Given the description of an element on the screen output the (x, y) to click on. 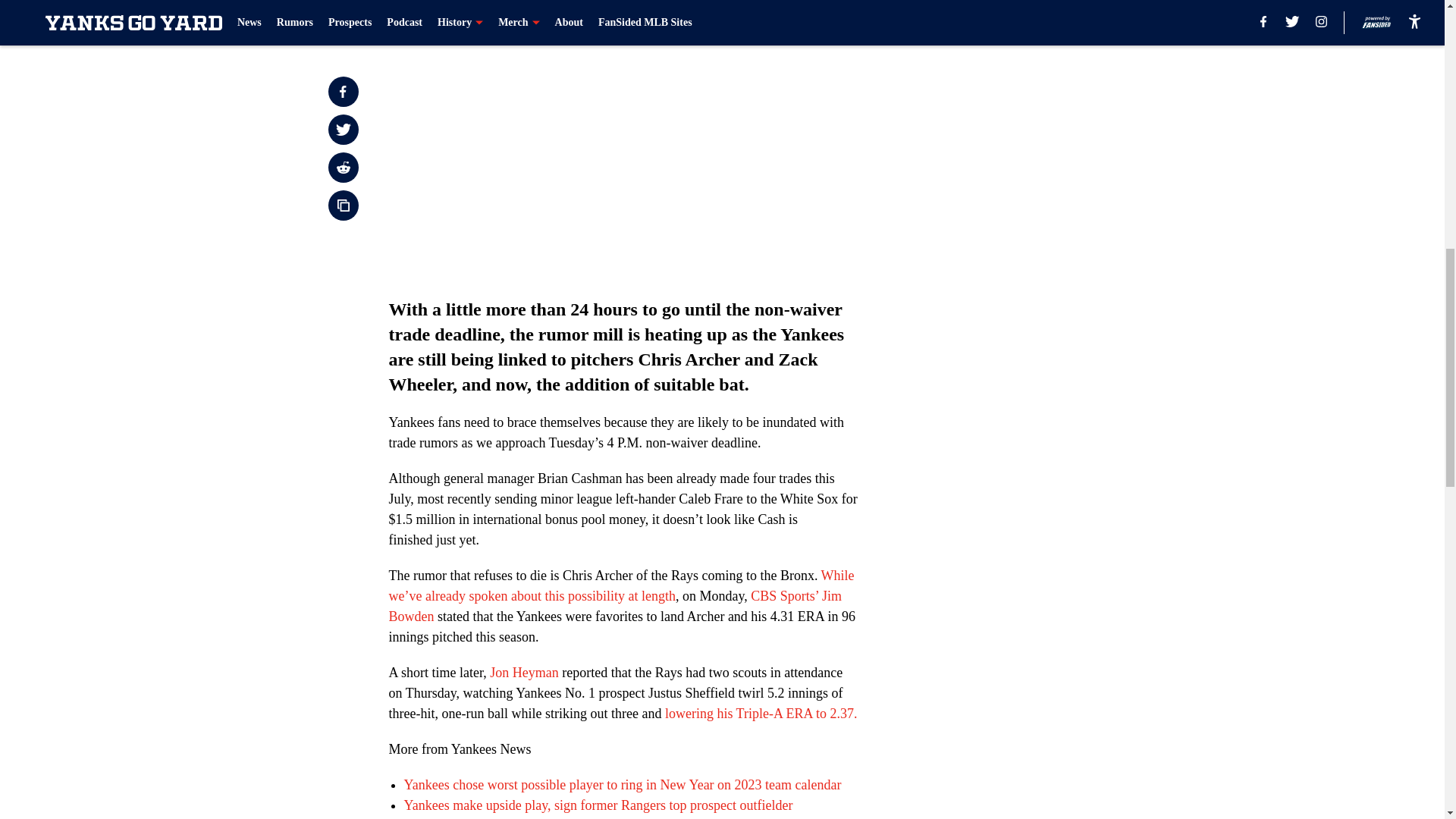
Jon Heyman (523, 672)
lowering his Triple-A ERA to 2.37. (761, 713)
